Given the description of an element on the screen output the (x, y) to click on. 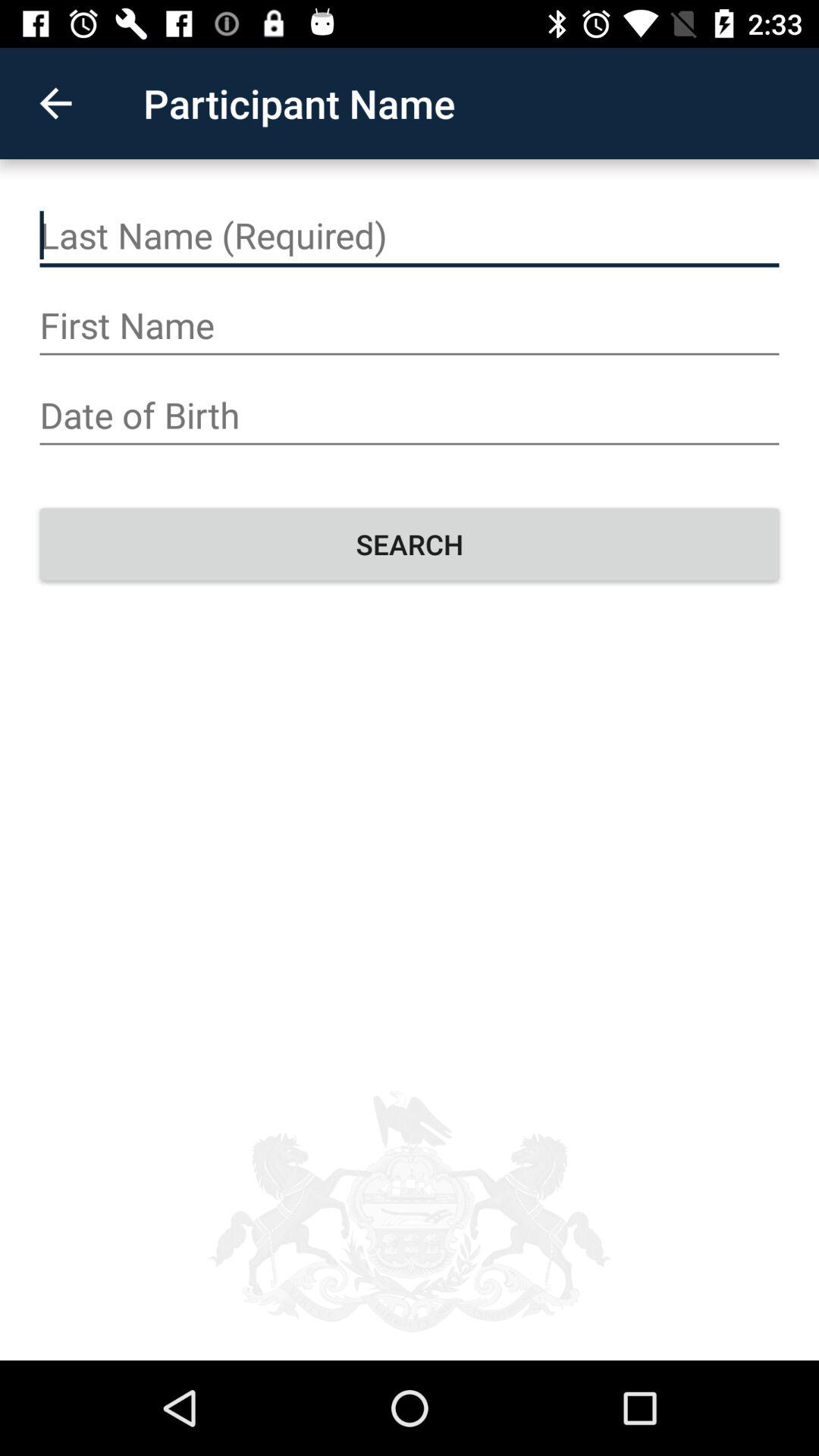
flip until search (409, 544)
